Given the description of an element on the screen output the (x, y) to click on. 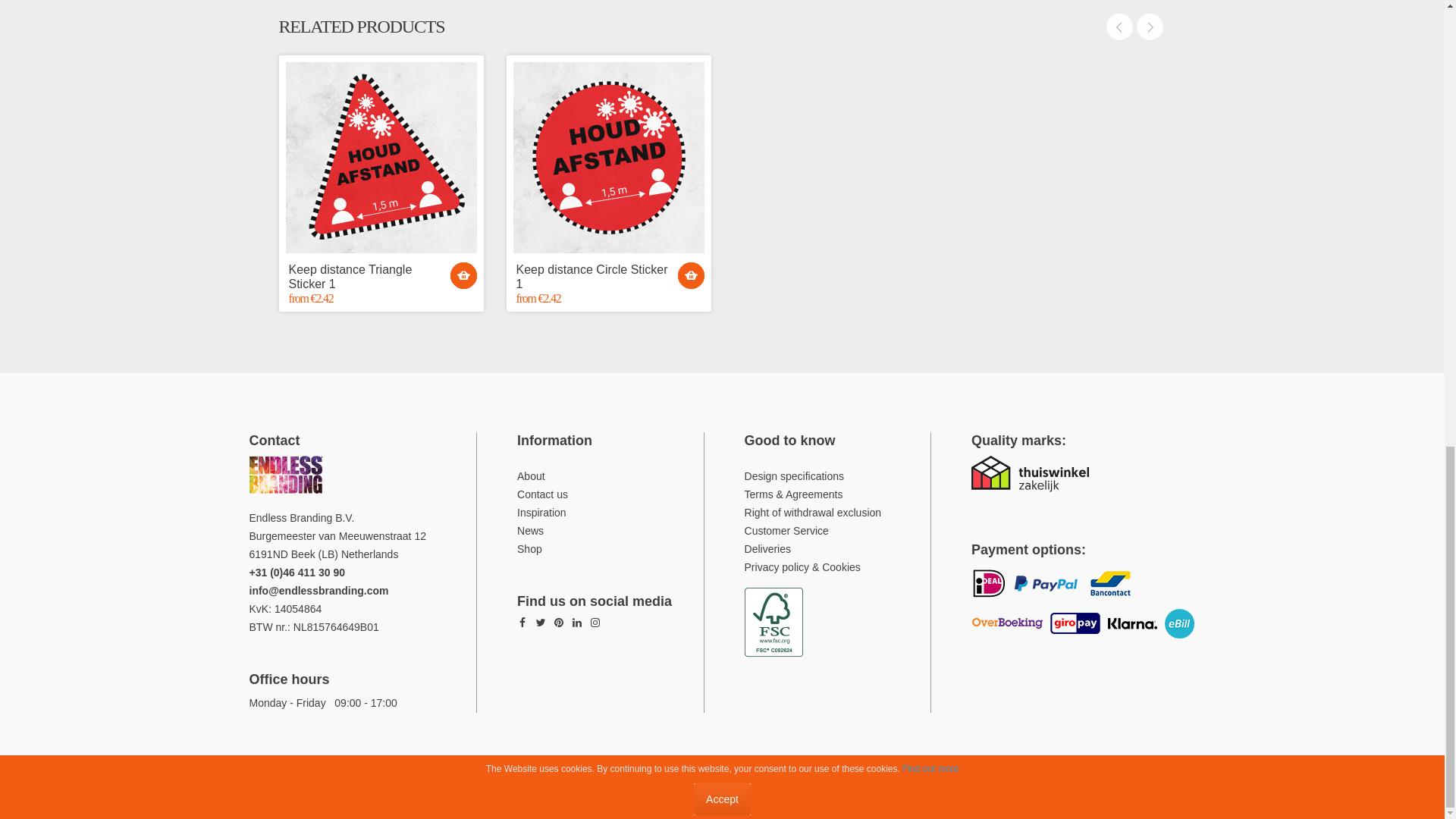
Add to Cart (691, 275)
Add to Cart (463, 275)
Keep distance Triangle Sticker 1 (380, 157)
Keep distance Circle Sticker 1 (607, 157)
Keep distance Triangle Sticker 1 (380, 276)
